Given the description of an element on the screen output the (x, y) to click on. 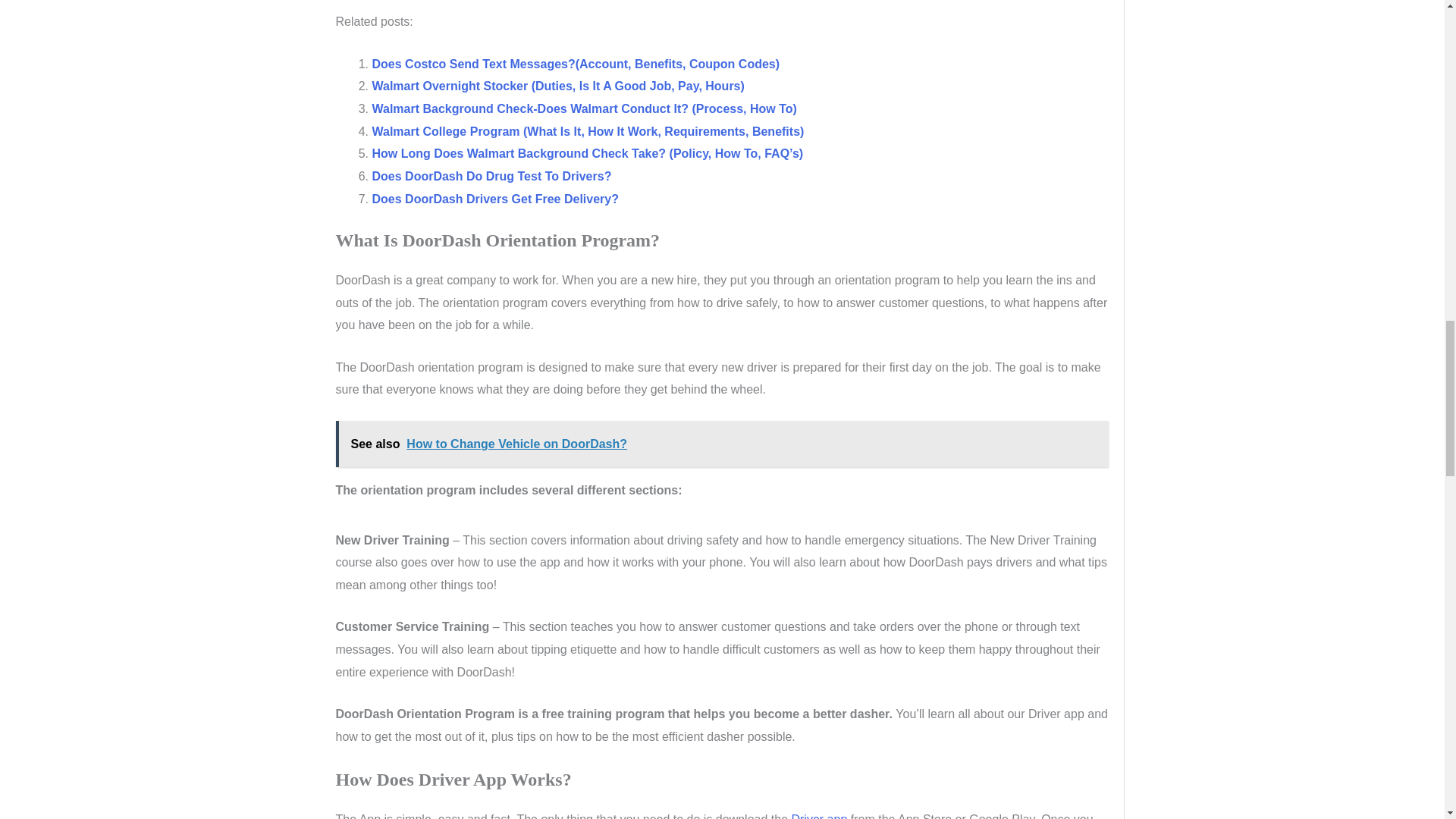
Does DoorDash Do Drug Test To Drivers? (491, 175)
Does DoorDash Drivers Get Free Delivery? (494, 198)
